Given the description of an element on the screen output the (x, y) to click on. 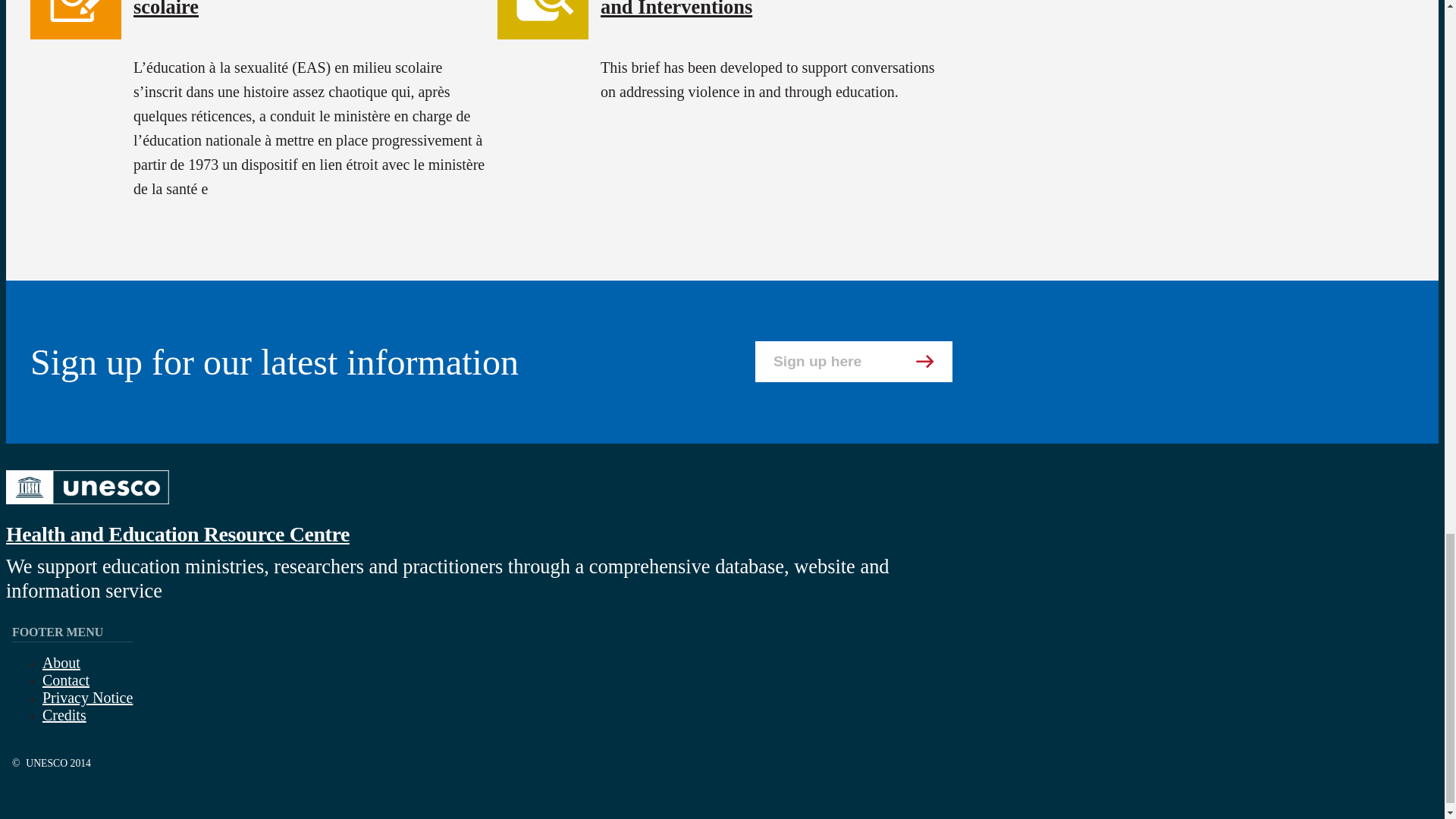
Home (177, 534)
Violence in Schools: Prevalence, Impact, and Interventions (771, 9)
Home (86, 506)
